Given the description of an element on the screen output the (x, y) to click on. 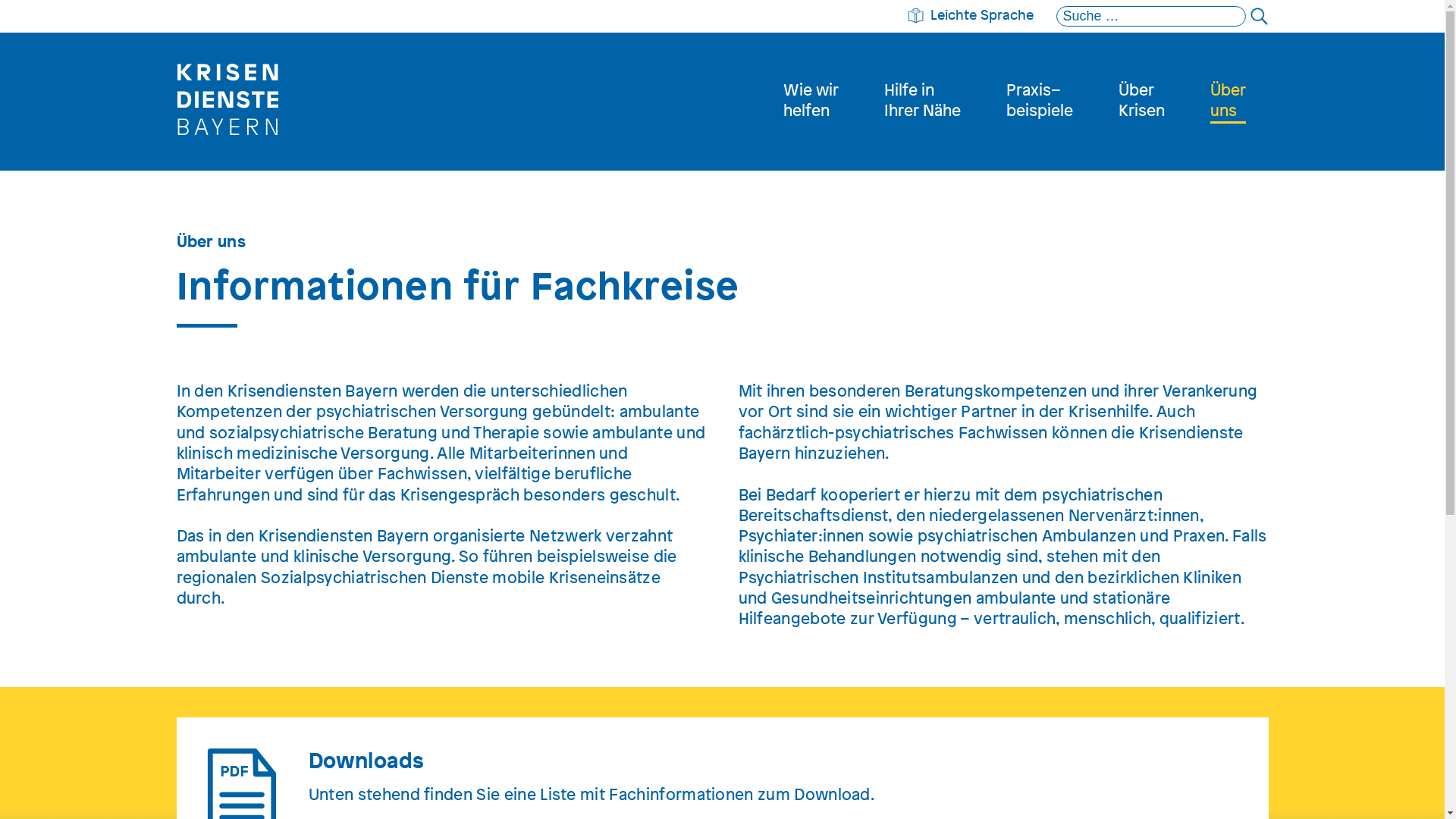
Krisendienste Bayern Element type: text (227, 160)
Leichte Sprache Element type: text (969, 14)
Wie wir
helfen Element type: text (809, 101)
